Given the description of an element on the screen output the (x, y) to click on. 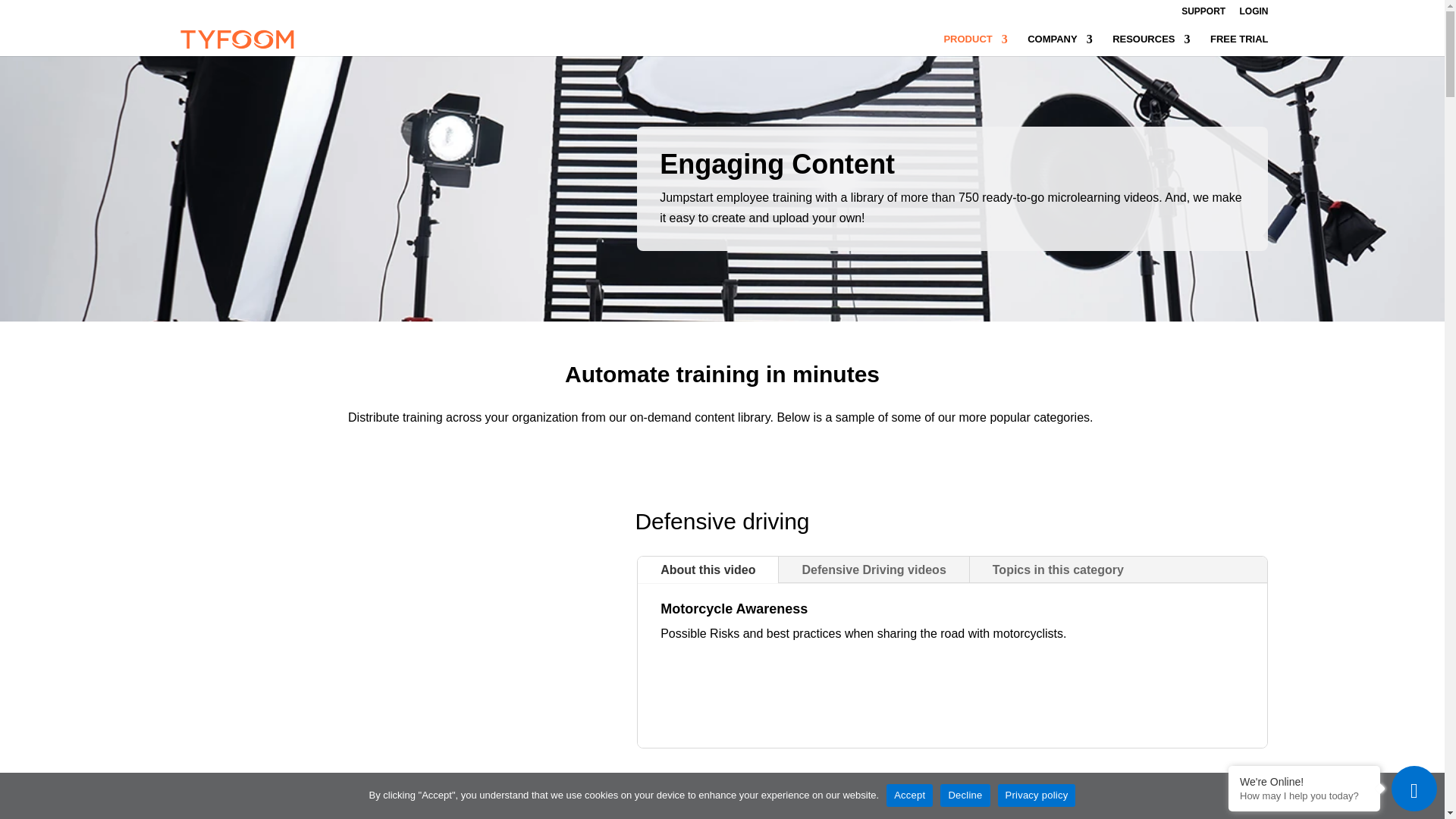
FREE TRIAL (1238, 45)
SUPPORT (1202, 14)
COMPANY (1059, 45)
RESOURCES (1150, 45)
LOGIN (1253, 14)
PRODUCT (975, 45)
